Given the description of an element on the screen output the (x, y) to click on. 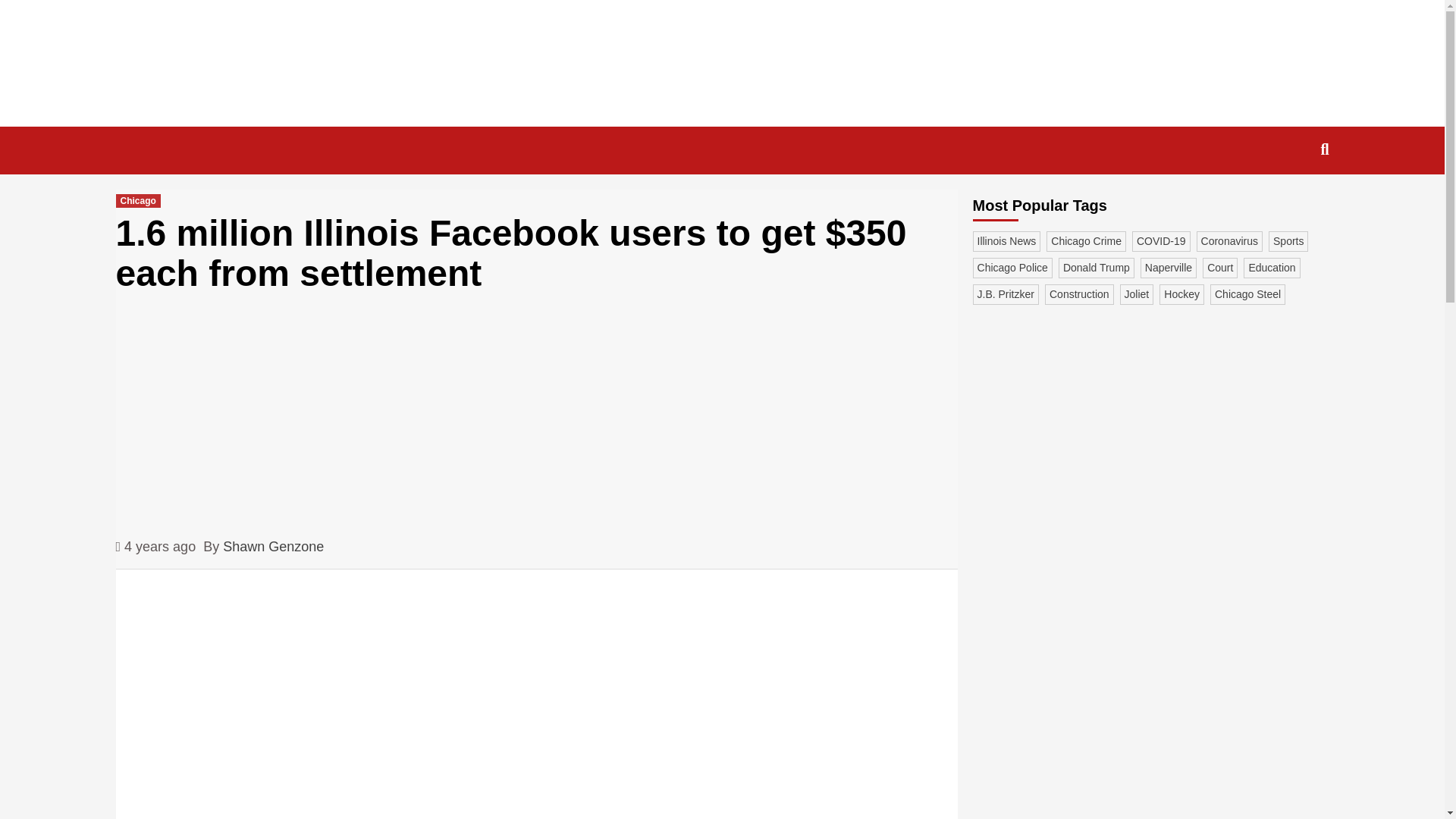
Chicago Morning Star (390, 140)
Chicago (137, 201)
Shawn Genzone (272, 547)
